Given the description of an element on the screen output the (x, y) to click on. 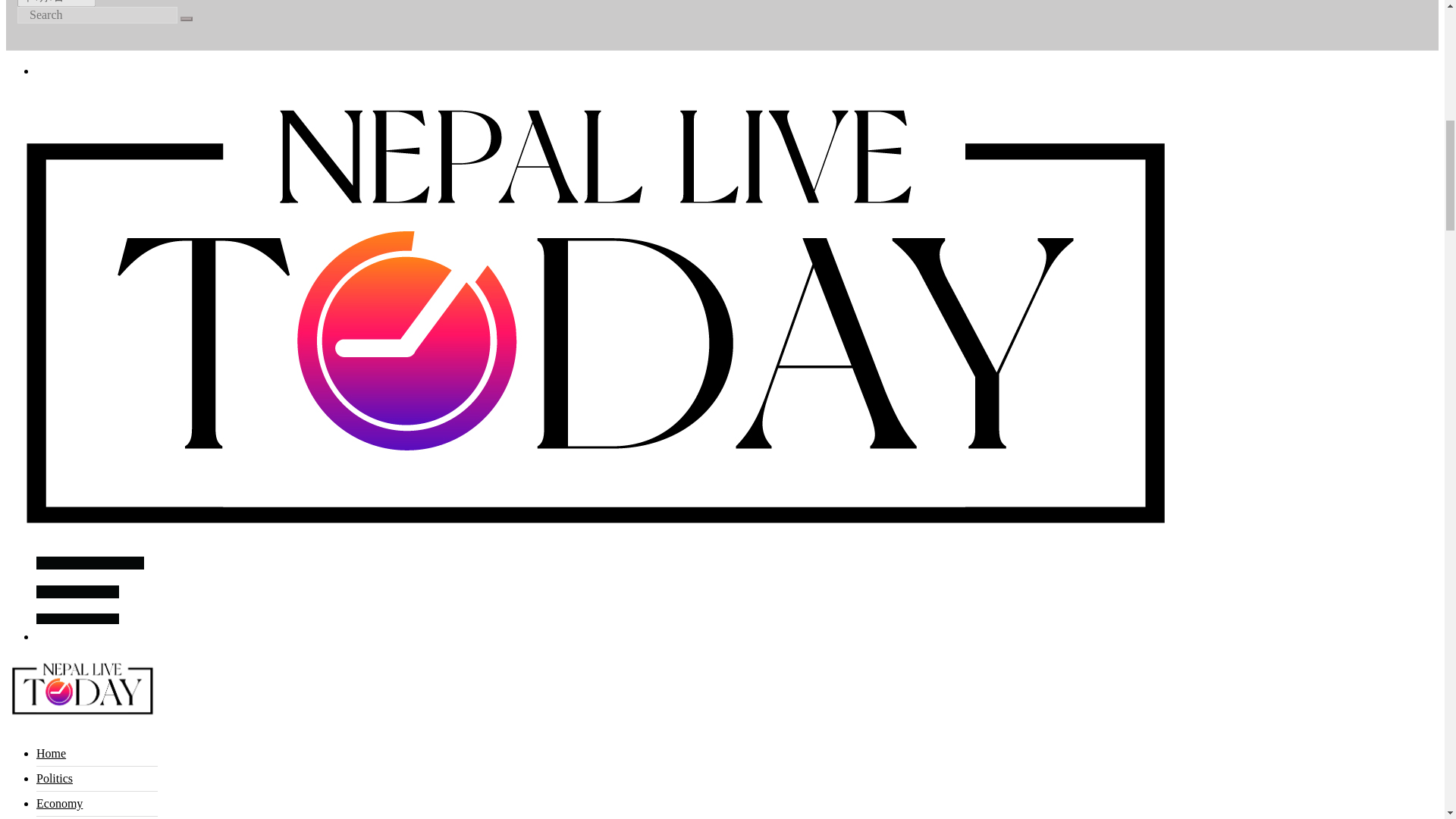
Economy (59, 802)
Politics (54, 778)
Home (50, 753)
